Given the description of an element on the screen output the (x, y) to click on. 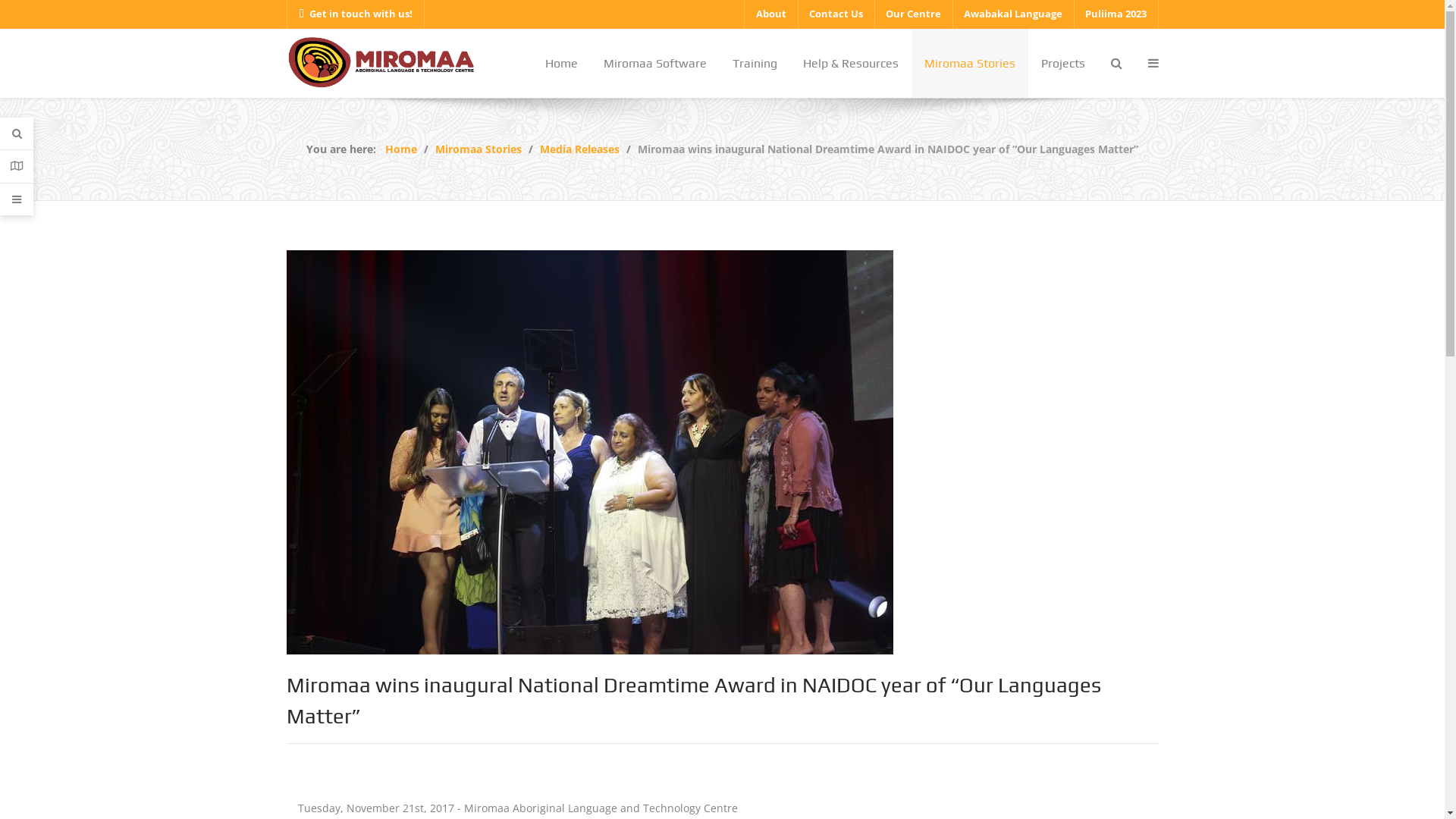
Miromaa Software Element type: text (653, 62)
Training Element type: text (1063, 610)
Home Element type: text (561, 62)
Miromaa Software Element type: text (1063, 588)
About us Element type: text (1063, 566)
Search Element type: hover (16, 133)
Contact Us Element type: text (835, 14)
Help & Resources Element type: text (1063, 632)
Training Element type: text (753, 62)
Vimeo Element type: hover (1111, 782)
Protocols & Privacy Element type: text (1063, 654)
Our Centre Element type: text (912, 14)
How we can help Element type: text (1063, 543)
Support Element type: hover (16, 199)
Language conservation... Element type: text (583, 655)
Projects Element type: text (1063, 62)
#WhyIMap: Language... Element type: text (579, 610)
Voices of Resilience -... Element type: text (577, 588)
Miromaa Stories Element type: text (478, 148)
On Saving First Languages Element type: text (586, 543)
Get in touch with us! Element type: text (355, 14)
Awabakal Language Element type: text (1012, 14)
Media Releases Element type: text (579, 148)
The richness of Aboriginal... Element type: text (591, 678)
Facebook Element type: hover (1044, 782)
Subscribe Element type: text (778, 663)
Home Element type: text (401, 148)
An Australian indigenous... Element type: text (588, 633)
Re-indigeni(z)ing Ecology Element type: text (583, 565)
Contacts Element type: hover (16, 166)
Twitter Element type: hover (1077, 782)
Miromaa Stories Element type: text (969, 62)
InsightFX Element type: hover (381, 60)
Puliima 2023 Element type: text (1115, 14)
Contact Us Element type: text (1063, 676)
YouTube Element type: hover (1144, 782)
